Given the description of an element on the screen output the (x, y) to click on. 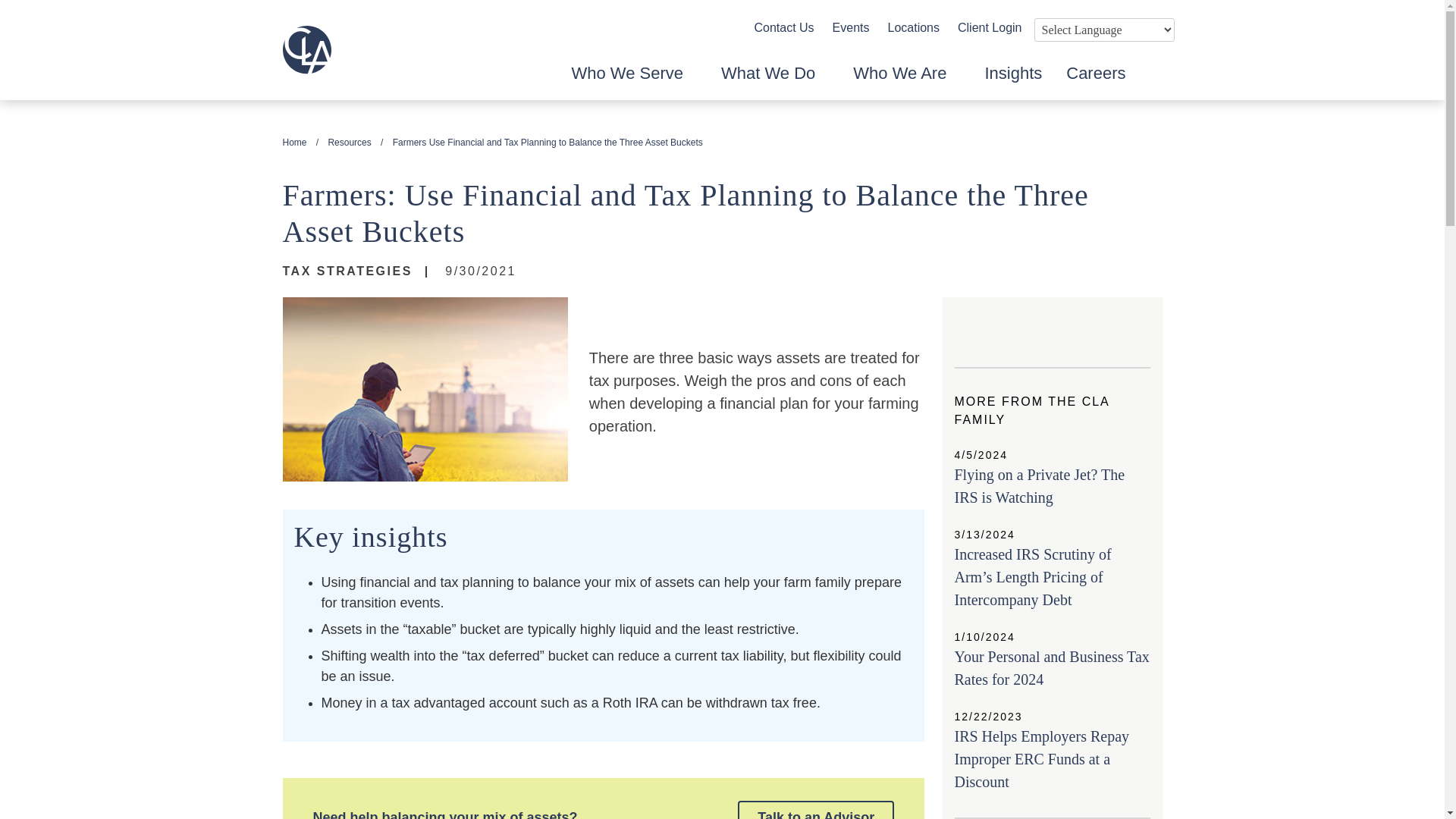
Talk to an Advisor (815, 809)
Who We Serve (633, 80)
Events (850, 27)
What We Do (774, 80)
Locations (912, 27)
Careers (1095, 80)
Who We Are (906, 80)
Client Login (990, 27)
Resources (349, 142)
Insights (1013, 80)
Contact Us (783, 27)
Home (293, 142)
